Given the description of an element on the screen output the (x, y) to click on. 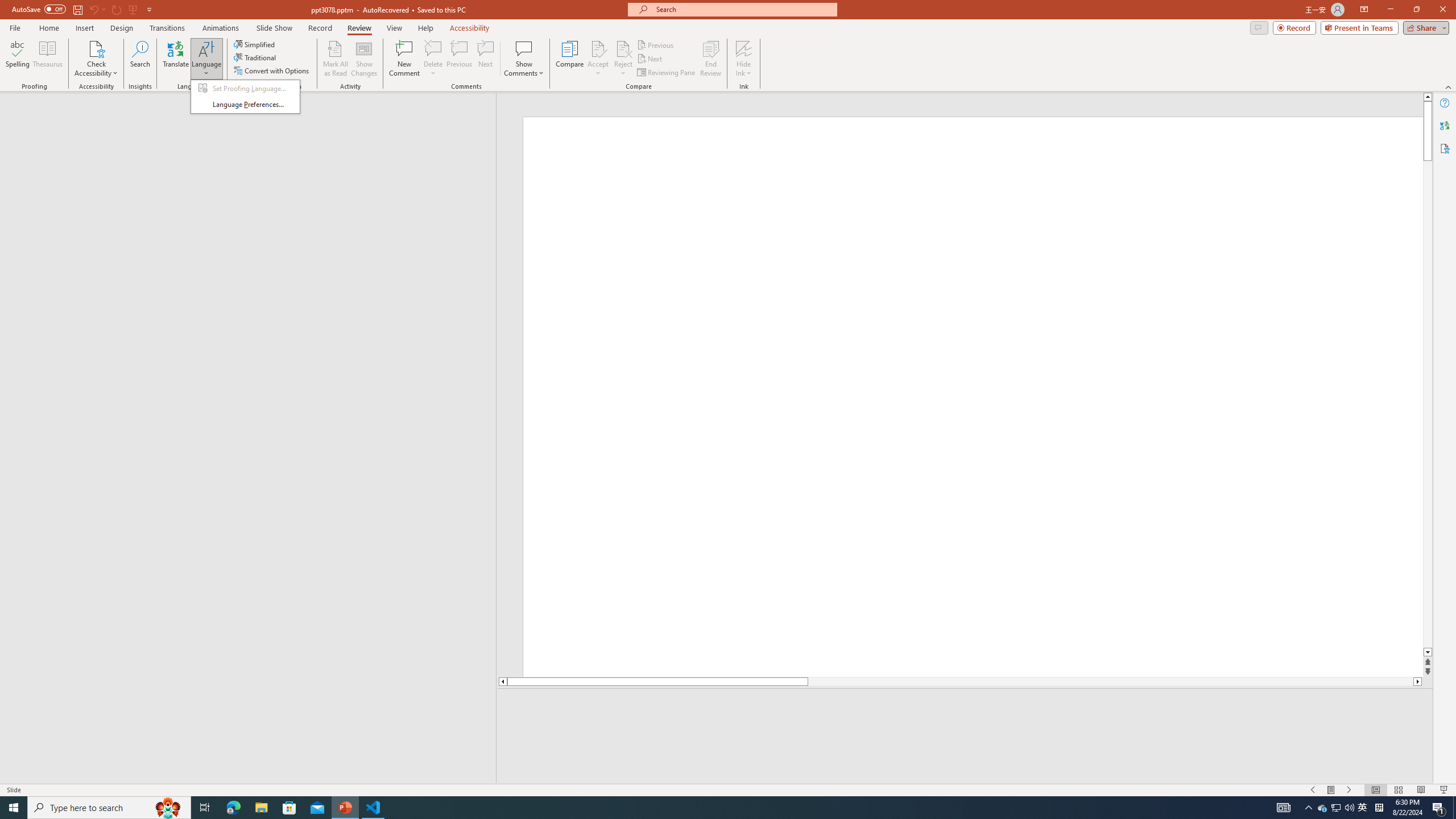
Mark All as Read (335, 58)
Translate (175, 58)
